Given the description of an element on the screen output the (x, y) to click on. 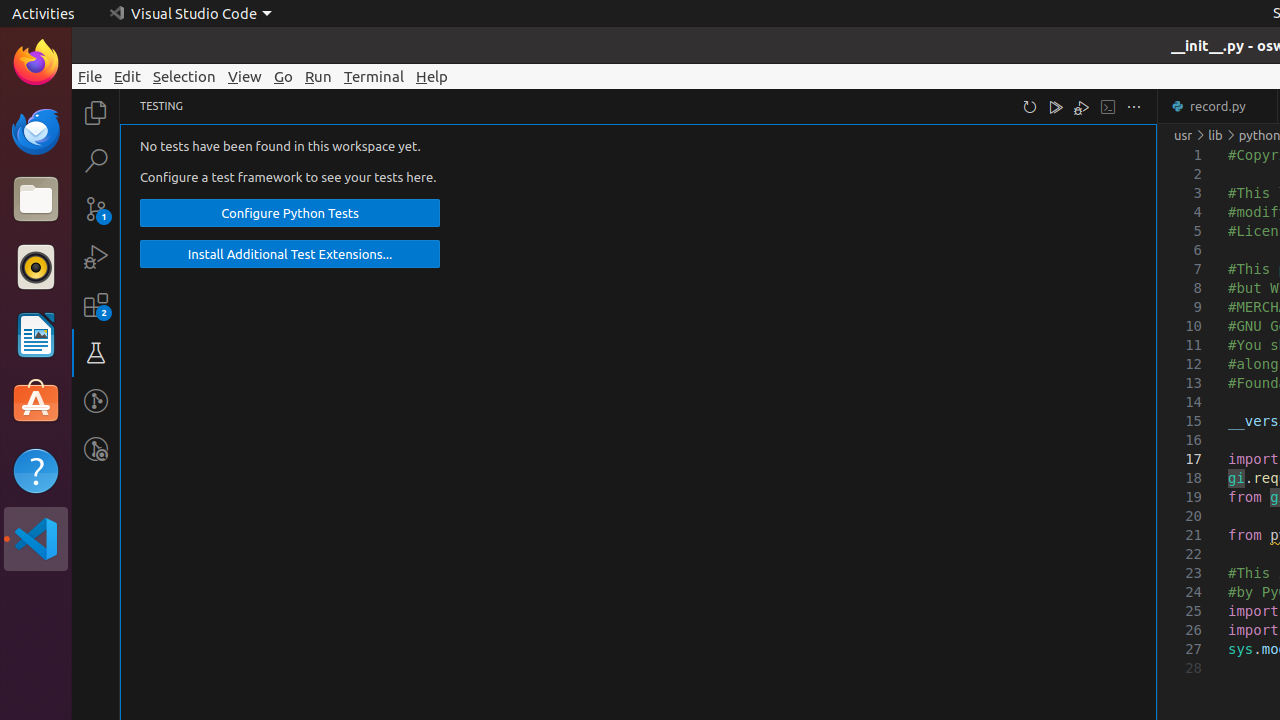
Edit Element type: push-button (127, 76)
Firefox Web Browser Element type: push-button (36, 63)
Configure Python Tests Element type: push-button (290, 213)
Go Element type: push-button (283, 76)
